Given the description of an element on the screen output the (x, y) to click on. 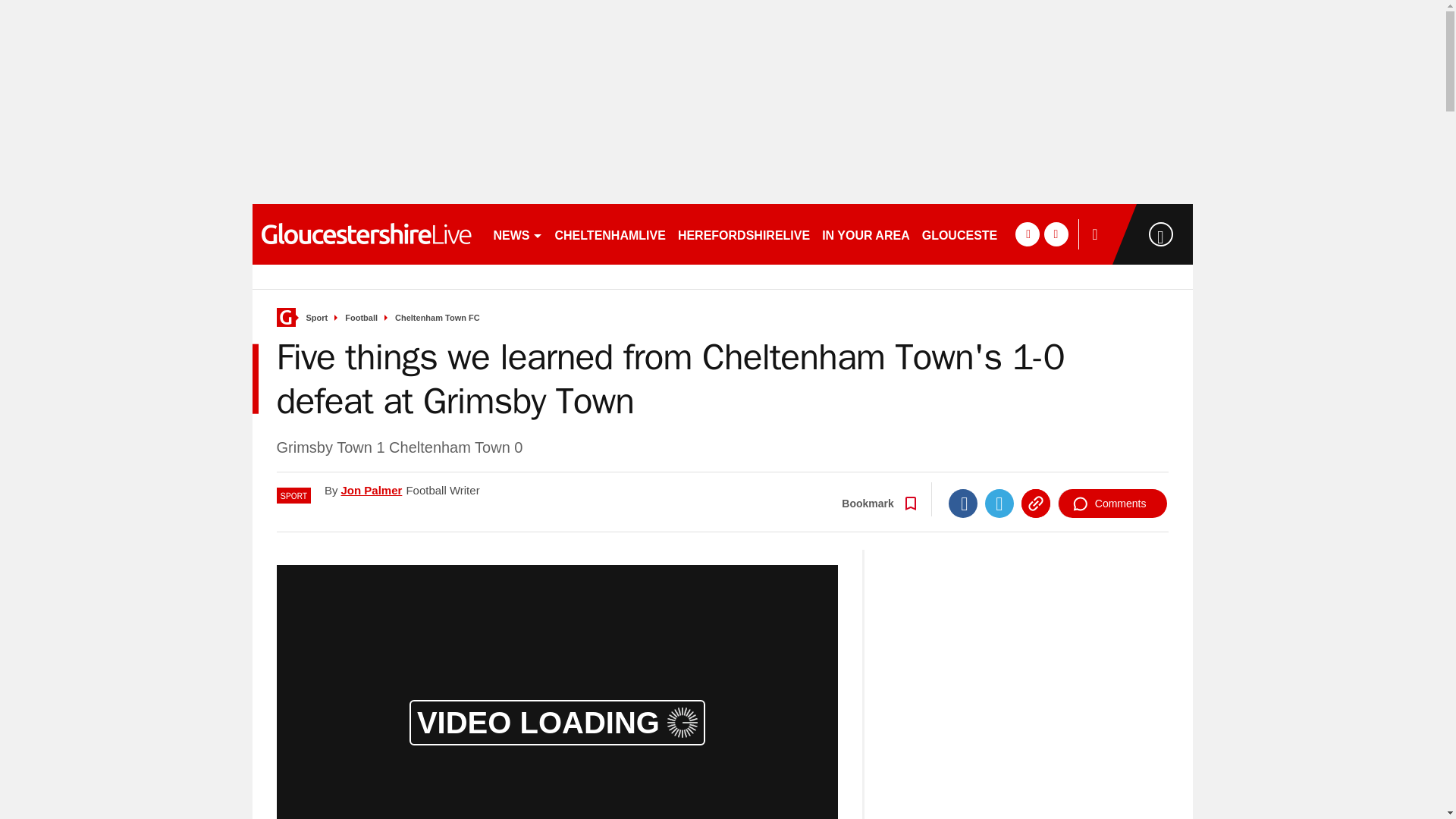
IN YOUR AREA (865, 233)
NEWS (517, 233)
Comments (1112, 502)
Twitter (999, 502)
CHELTENHAMLIVE (609, 233)
gloucestershirelive (365, 233)
twitter (1055, 233)
facebook (1026, 233)
Facebook (962, 502)
HEREFORDSHIRELIVE (743, 233)
